Given the description of an element on the screen output the (x, y) to click on. 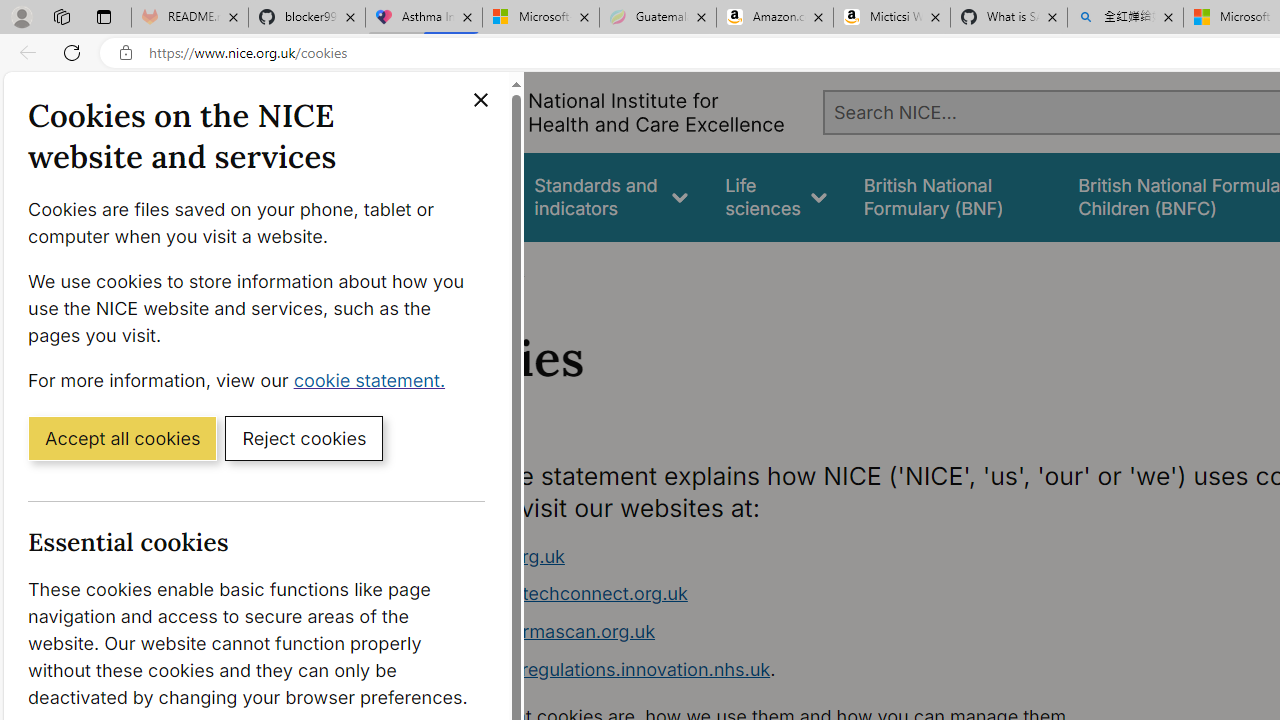
Home> (433, 268)
Close cookie banner (480, 99)
About (498, 268)
About (498, 268)
www.nice.org.uk (796, 556)
